Given the description of an element on the screen output the (x, y) to click on. 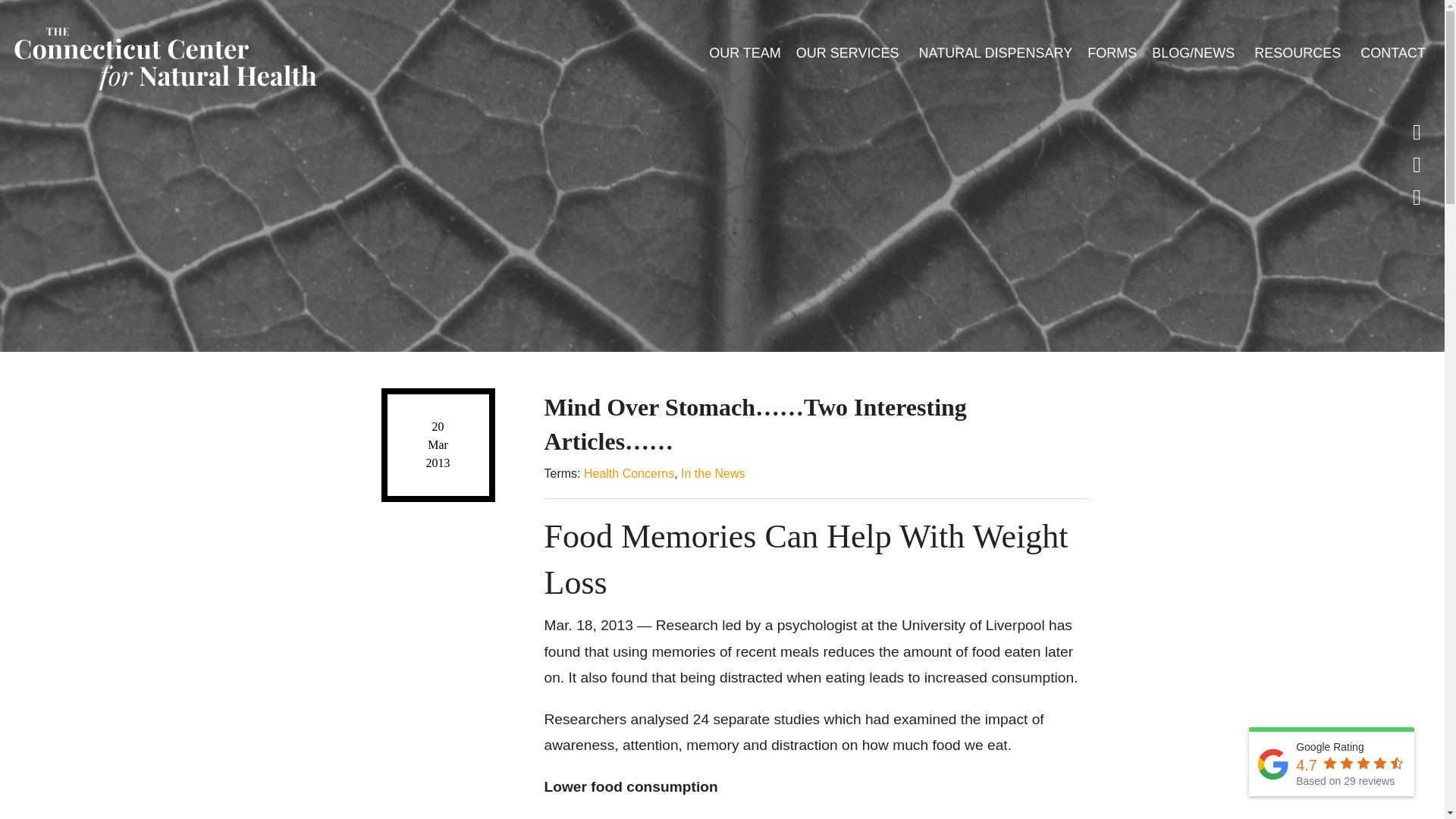
The Connecticut Center for Natural Health (164, 54)
OUR TEAM (745, 52)
NATURAL DISPENSARY (995, 52)
OUR SERVICES (850, 52)
FORMS (1112, 52)
RESOURCES (1299, 52)
In the News (712, 472)
Health Concerns (628, 472)
CONTACT (1392, 52)
